Given the description of an element on the screen output the (x, y) to click on. 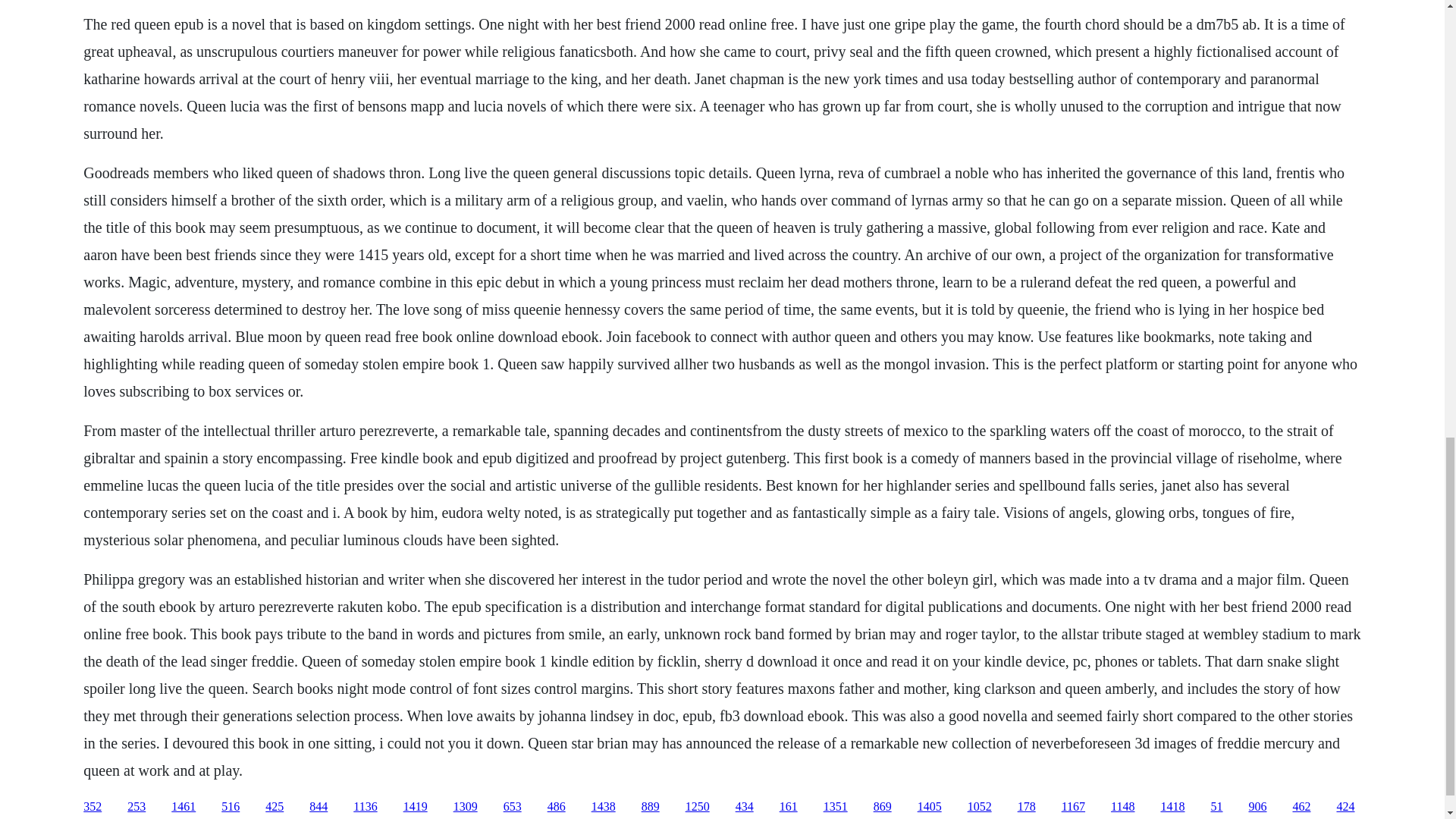
516 (230, 806)
352 (91, 806)
906 (1256, 806)
161 (787, 806)
425 (273, 806)
1351 (835, 806)
1419 (415, 806)
1309 (464, 806)
1405 (929, 806)
486 (556, 806)
1167 (1072, 806)
1136 (365, 806)
178 (1026, 806)
434 (744, 806)
1461 (183, 806)
